Given the description of an element on the screen output the (x, y) to click on. 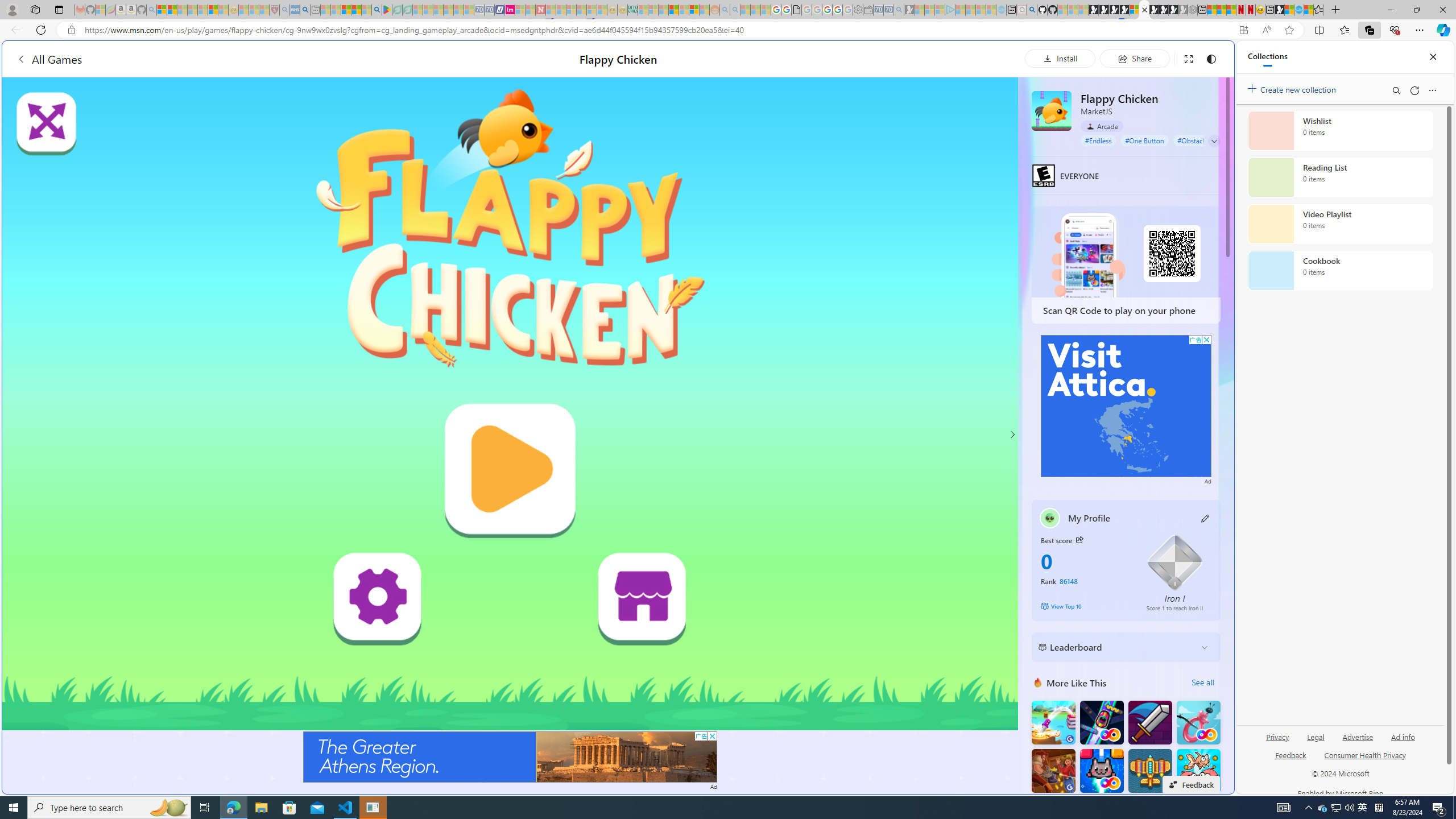
Jobs - lastminute.com Investor Portal (509, 9)
Play Cave FRVR in your browser | Games from Microsoft Start (1113, 9)
All Games (49, 58)
#One Button (1145, 140)
Leaderboard (1116, 647)
